Given the description of an element on the screen output the (x, y) to click on. 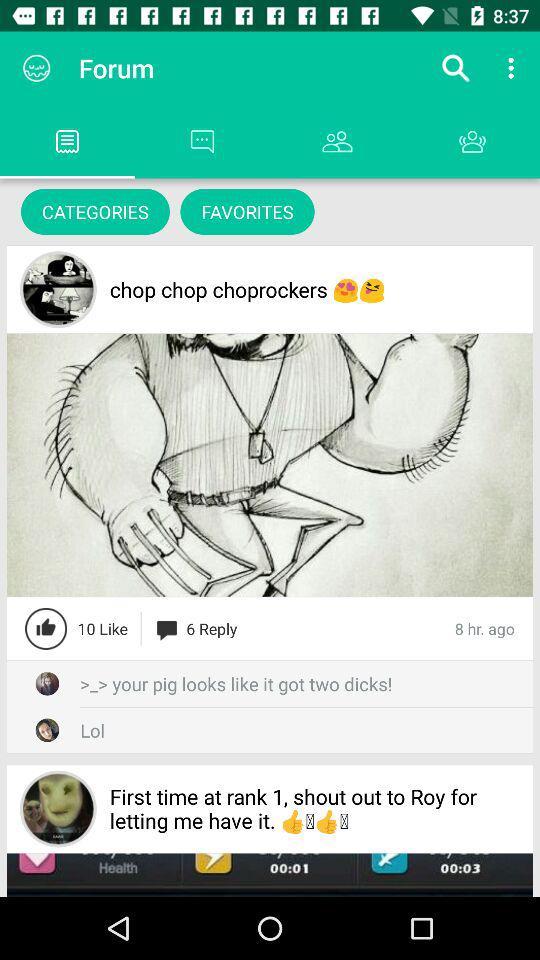
turn on item next to the forum item (455, 67)
